Given the description of an element on the screen output the (x, y) to click on. 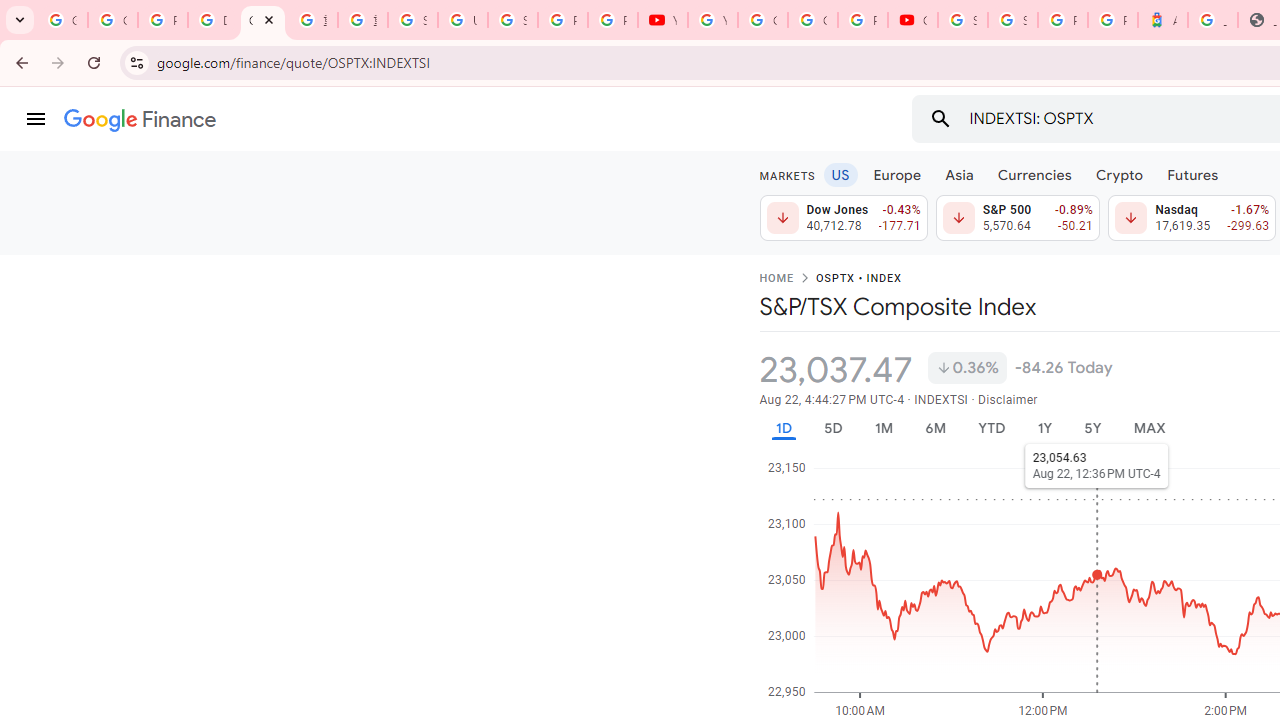
YouTube (712, 20)
1Y (1044, 427)
Sign in - Google Accounts (1013, 20)
HOME (776, 279)
1M (882, 427)
Nasdaq 17,619.35 Down by 1.67% -299.63 (1192, 218)
Disclaimer (1007, 399)
Content Creator Programs & Opportunities - YouTube Creators (913, 20)
